Given the description of an element on the screen output the (x, y) to click on. 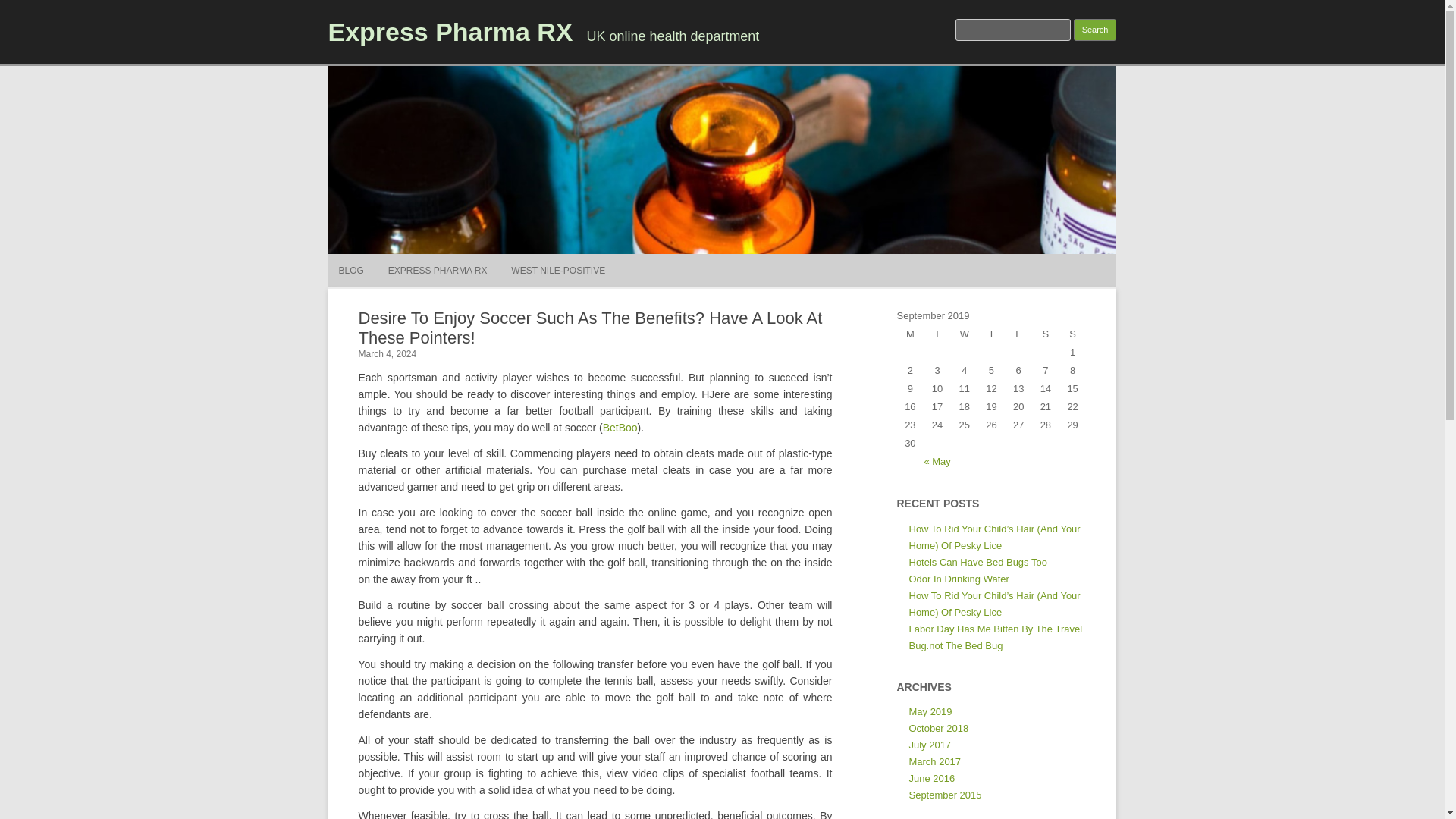
BetBoo (619, 427)
Thursday (992, 334)
Search (1095, 29)
June 2016 (931, 778)
5:16 am (387, 353)
Wednesday (964, 334)
Monday (909, 334)
Saturday (1045, 334)
Search (1095, 29)
May 2019 (930, 711)
